Given the description of an element on the screen output the (x, y) to click on. 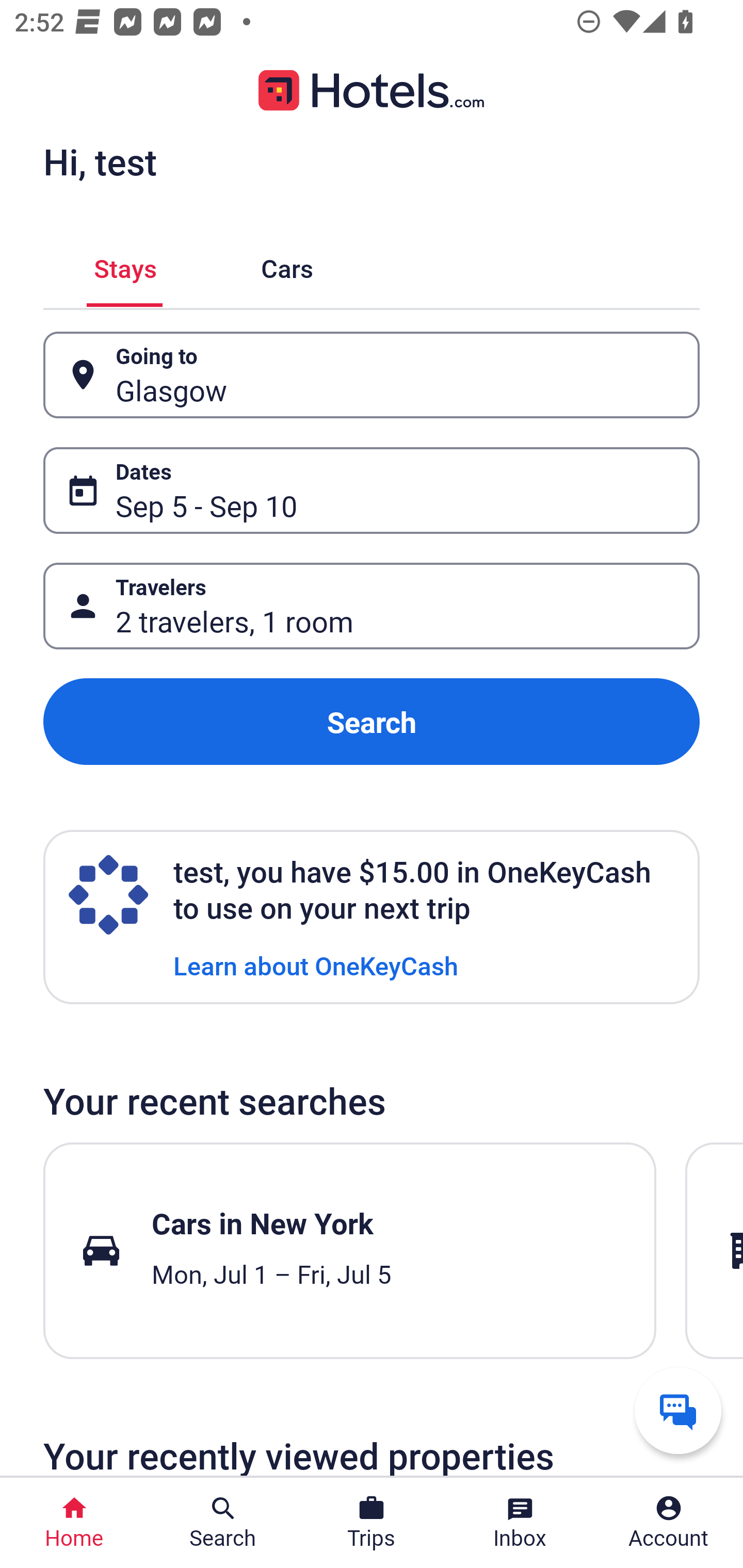
Hi, test (99, 161)
Cars (286, 265)
Going to Button Glasgow (371, 375)
Dates Button Sep 5 - Sep 10 (371, 489)
Travelers Button 2 travelers, 1 room (371, 605)
Search (371, 721)
Learn about OneKeyCash Learn about OneKeyCash Link (315, 964)
Get help from a virtual agent (677, 1410)
Search Search Button (222, 1522)
Trips Trips Button (371, 1522)
Inbox Inbox Button (519, 1522)
Account Profile. Button (668, 1522)
